Given the description of an element on the screen output the (x, y) to click on. 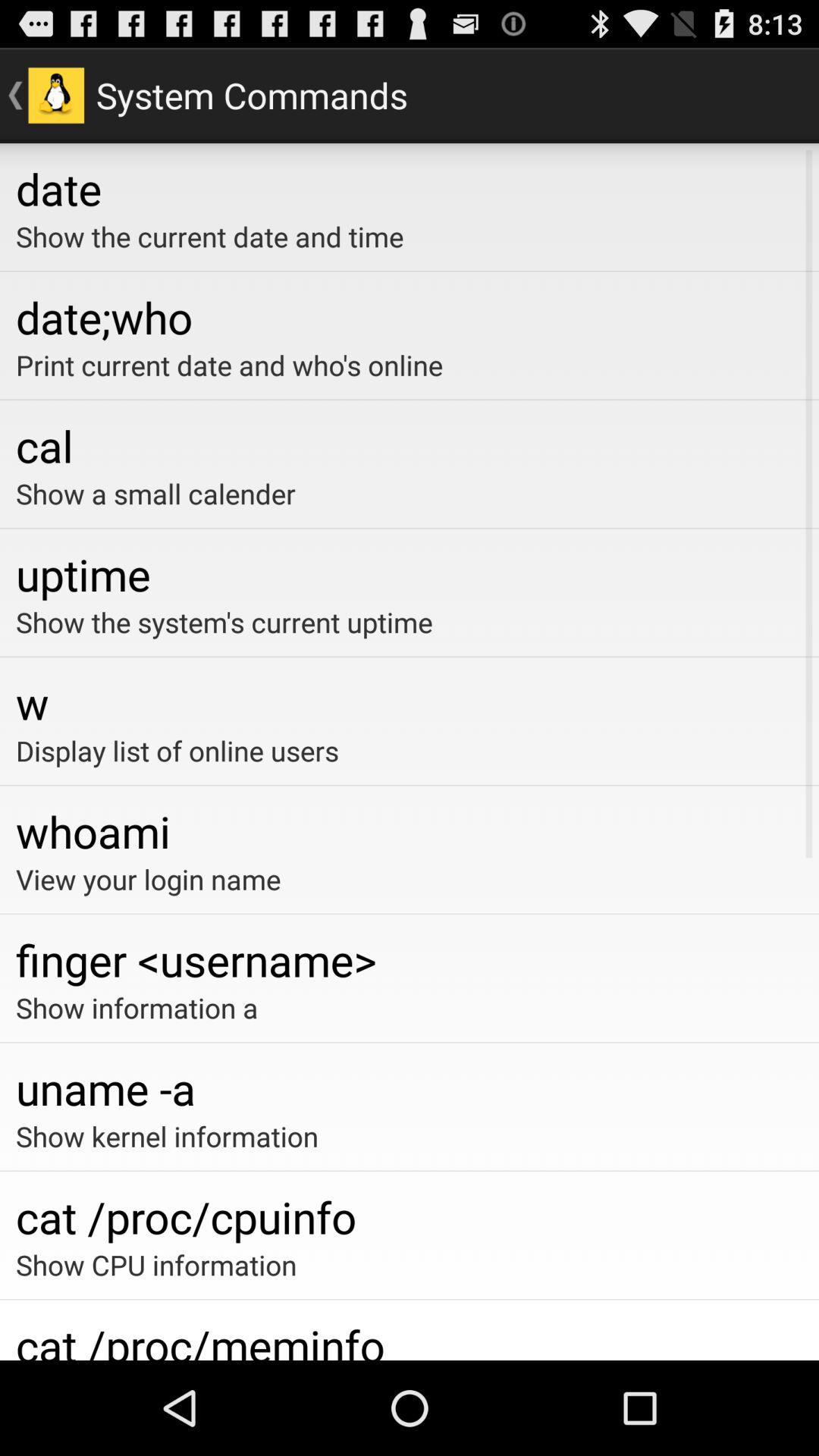
turn off app below show the system app (409, 702)
